Given the description of an element on the screen output the (x, y) to click on. 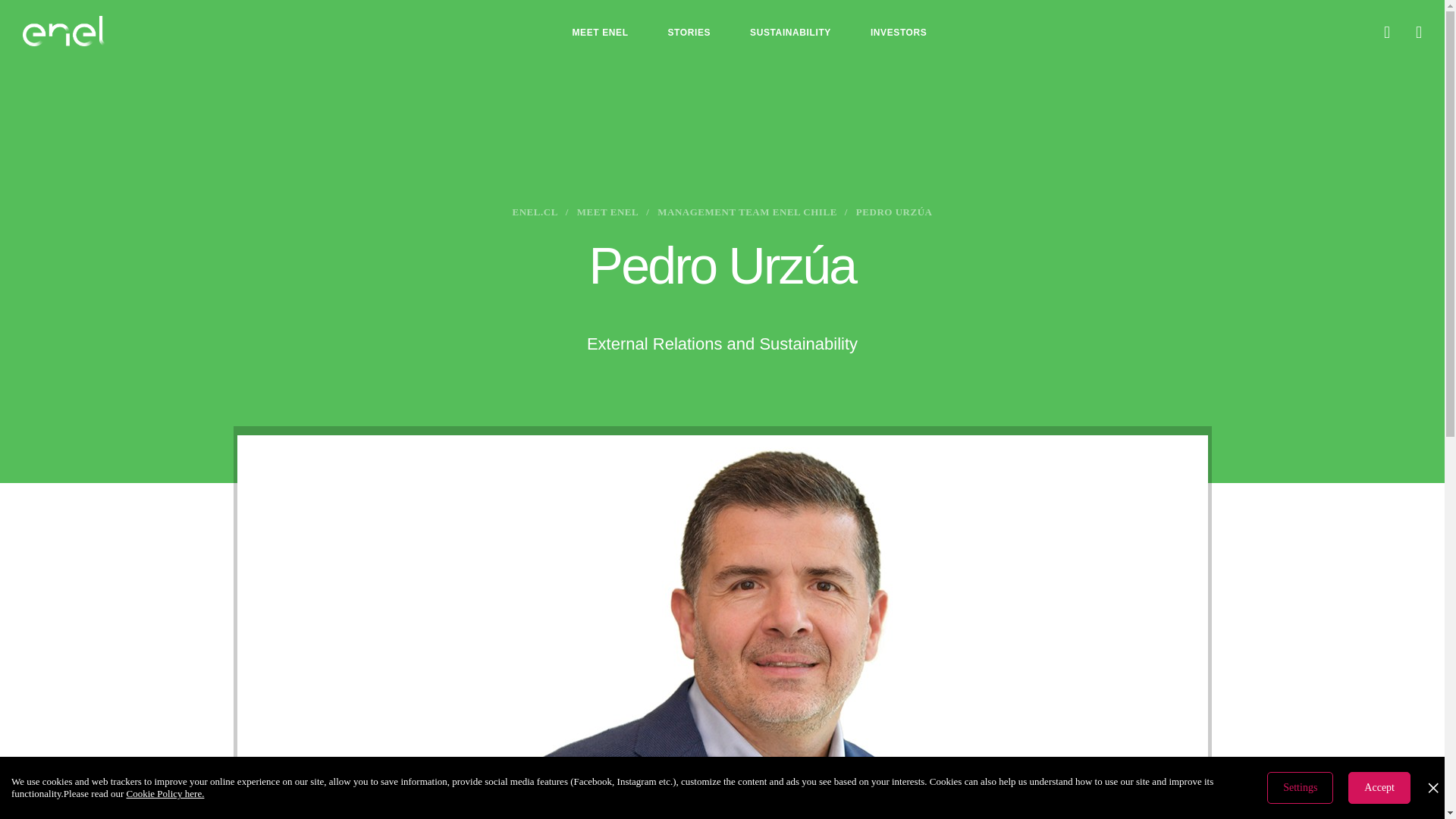
MEET ENEL (599, 32)
STORIES (688, 32)
INVESTORS (899, 32)
SUSTAINABILITY (790, 32)
Ir al inicio del sitio. (63, 30)
